Given the description of an element on the screen output the (x, y) to click on. 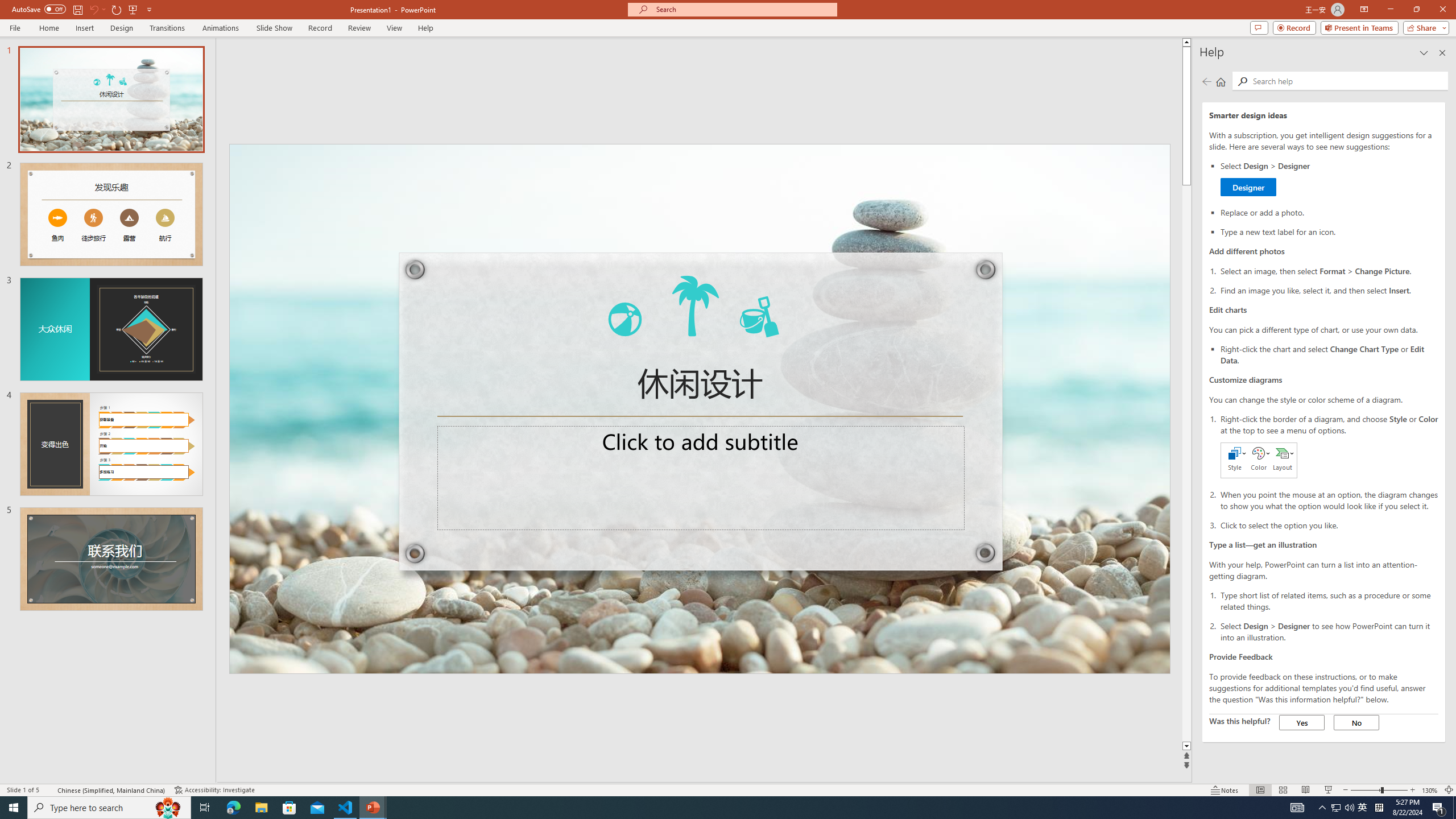
Zoom 130% (1430, 790)
Spell Check  (49, 790)
